Given the description of an element on the screen output the (x, y) to click on. 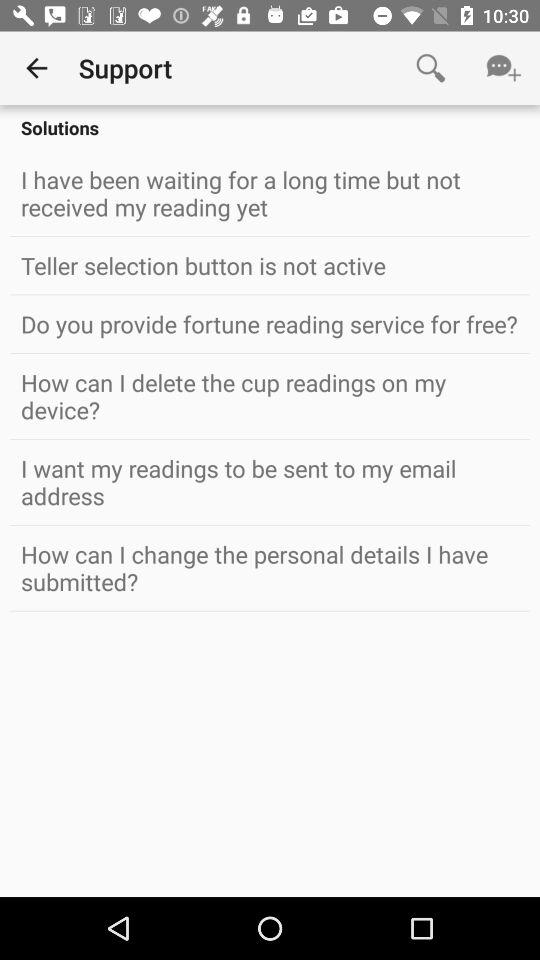
open the teller selection button (269, 265)
